Given the description of an element on the screen output the (x, y) to click on. 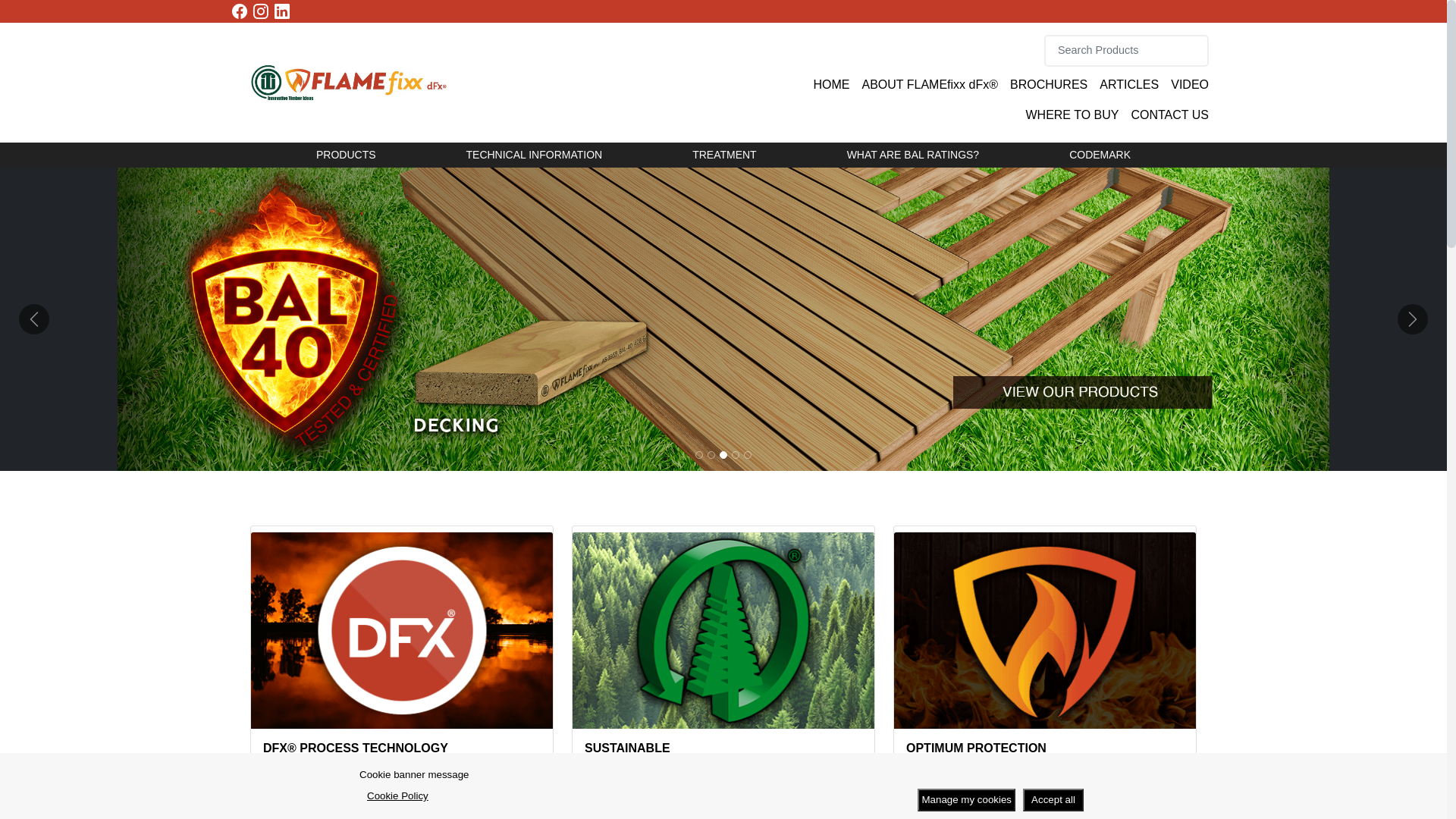
PRODUCTS Element type: text (346, 154)
ARTICLES Element type: text (1128, 84)
CONTACT US Element type: text (1169, 115)
VIDEO Element type: text (1189, 84)
Accept all Element type: text (1052, 799)
Previous Element type: text (34, 318)
Manage my cookies Element type: text (966, 799)
WHERE TO BUY Element type: text (1071, 115)
TECHNICAL INFORMATION Element type: text (533, 154)
TREATMENT Element type: text (724, 154)
BROCHURES Element type: text (1048, 84)
Cookie Policy Element type: text (397, 795)
HOME Element type: text (830, 84)
Next Element type: text (1412, 318)
WHAT ARE BAL RATINGS? Element type: text (912, 154)
CODEMARK Element type: text (1099, 154)
